Given the description of an element on the screen output the (x, y) to click on. 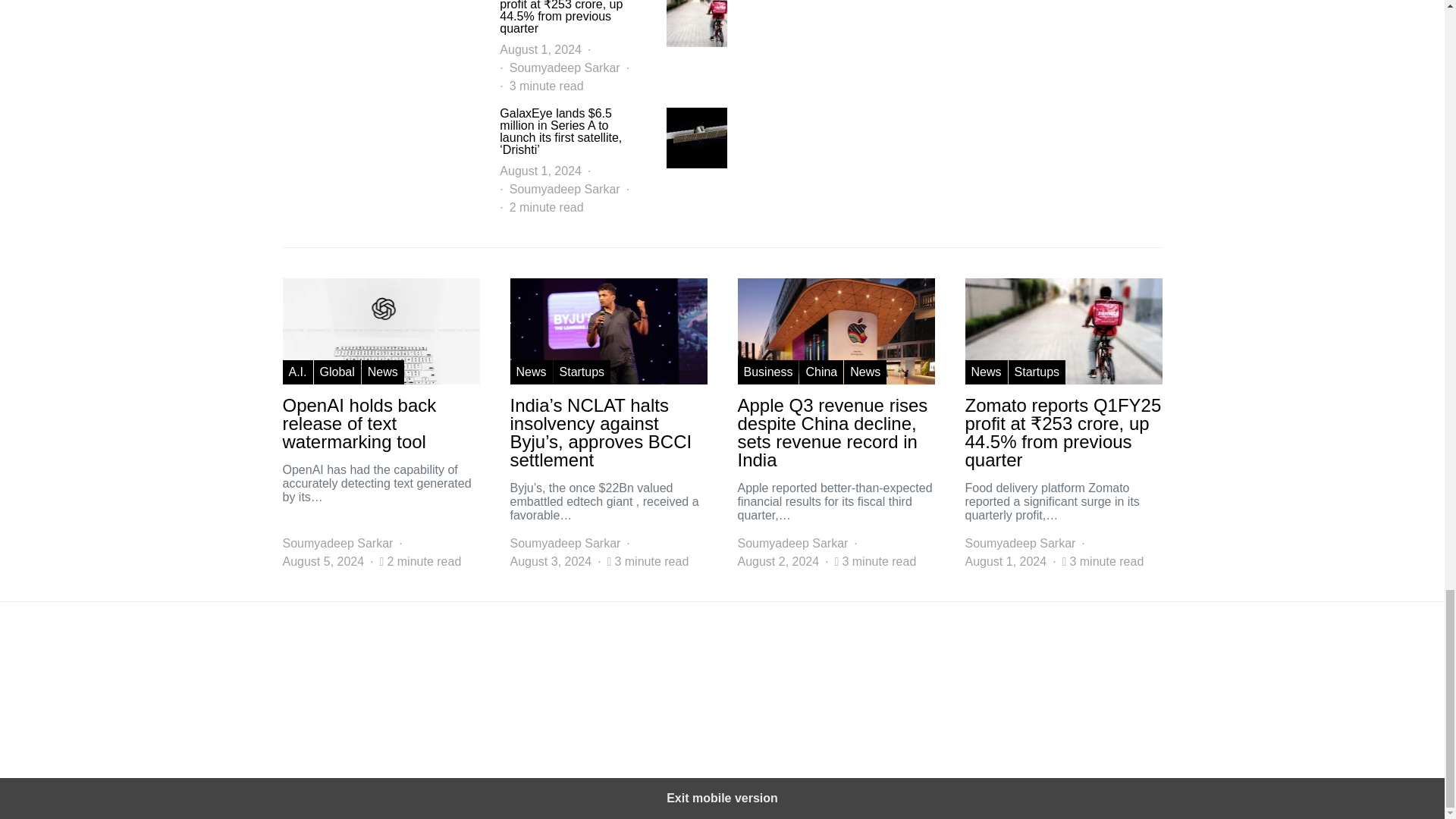
View all posts by Soumyadeep Sarkar (337, 543)
View all posts by Soumyadeep Sarkar (791, 543)
View all posts by Soumyadeep Sarkar (564, 67)
View all posts by Soumyadeep Sarkar (564, 543)
View all posts by Soumyadeep Sarkar (564, 189)
View all posts by Soumyadeep Sarkar (1019, 543)
